Given the description of an element on the screen output the (x, y) to click on. 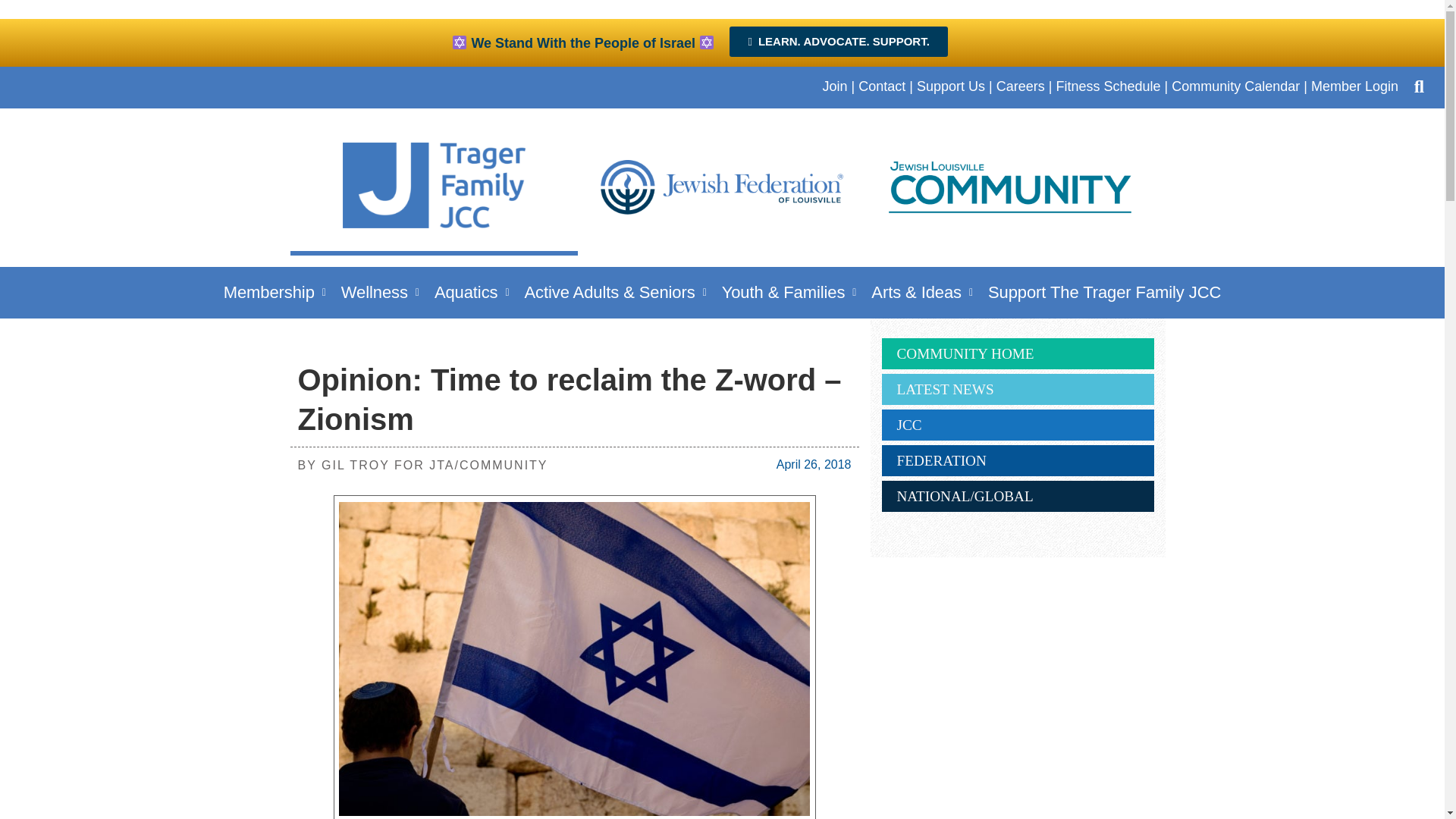
Aquatics (471, 292)
12:11 pm (813, 464)
Community Calendar (1236, 86)
Support Us (951, 86)
Fitness Schedule (1107, 86)
Wellness (379, 292)
Join (834, 86)
Membership (274, 292)
Careers (1020, 86)
Member Login (1354, 86)
LEARN. ADVOCATE. SUPPORT. (838, 41)
Contact (882, 86)
